Given the description of an element on the screen output the (x, y) to click on. 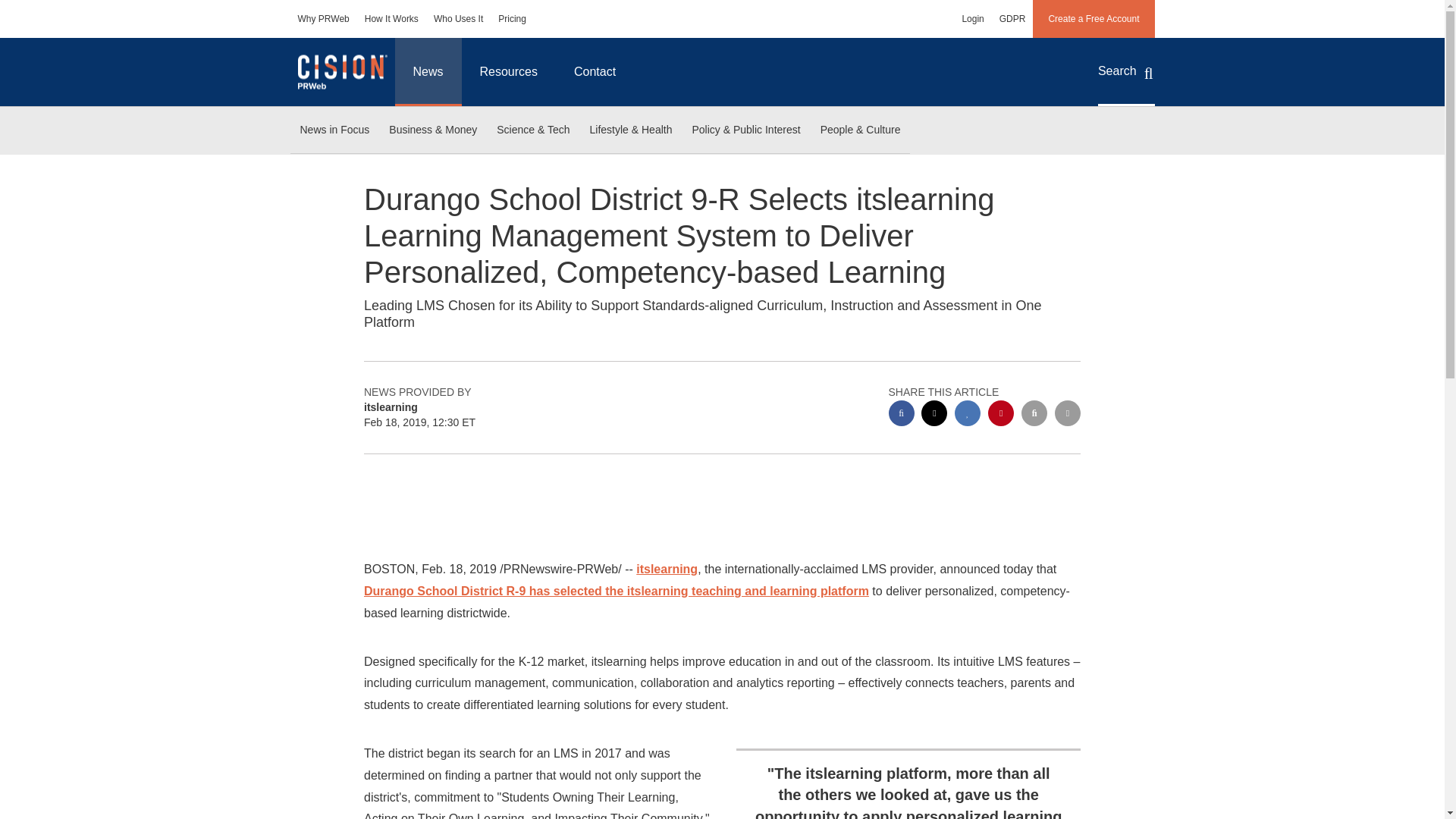
Who Uses It (458, 18)
Resources (508, 71)
Contact (594, 71)
Login (972, 18)
News in Focus (333, 130)
How It Works (391, 18)
News (427, 71)
Why PRWeb (322, 18)
Pricing (512, 18)
GDPR (1012, 18)
Create a Free Account (1093, 18)
News in Focus (333, 130)
